Given the description of an element on the screen output the (x, y) to click on. 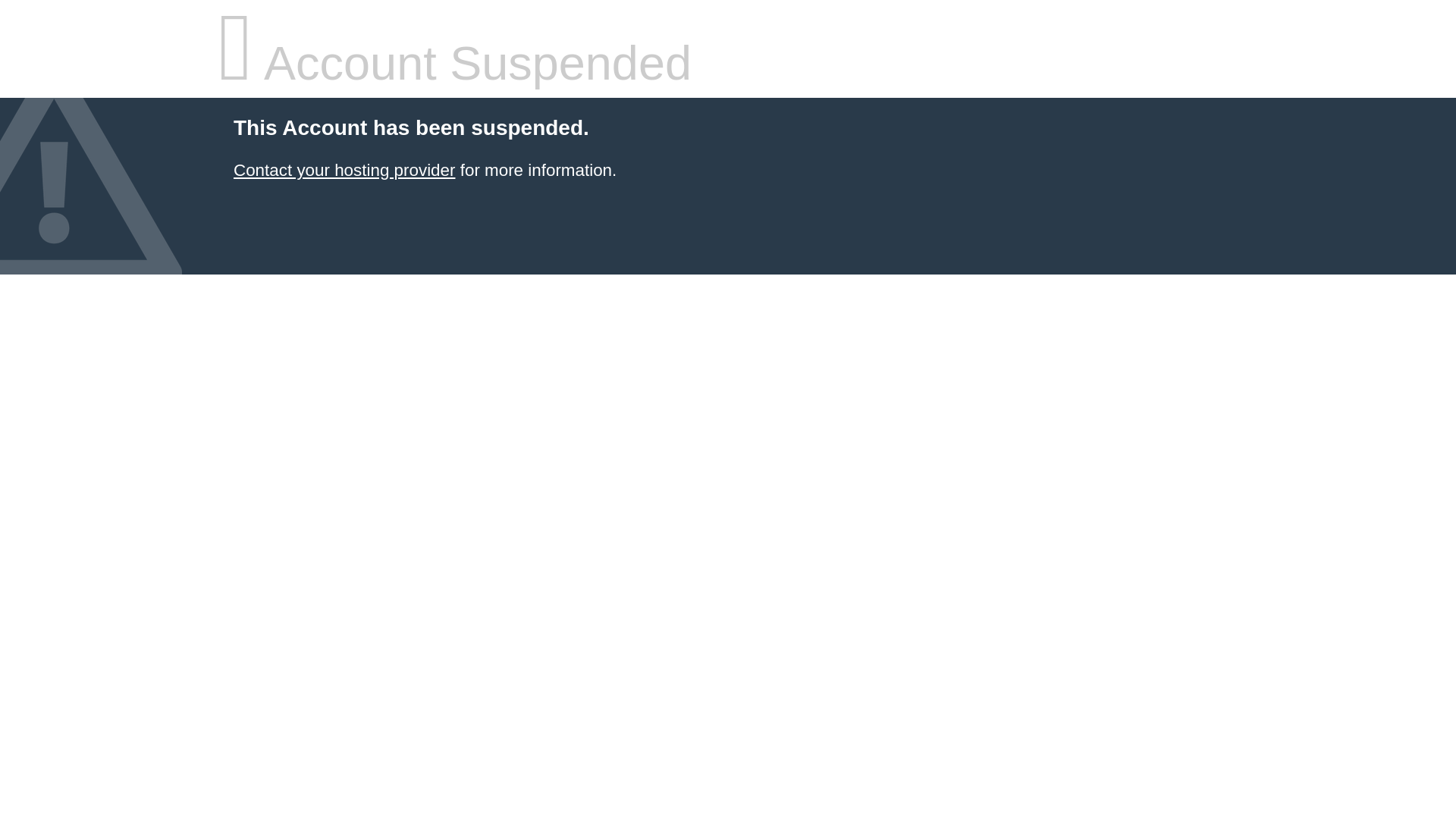
Contact your hosting provider (343, 169)
